Given the description of an element on the screen output the (x, y) to click on. 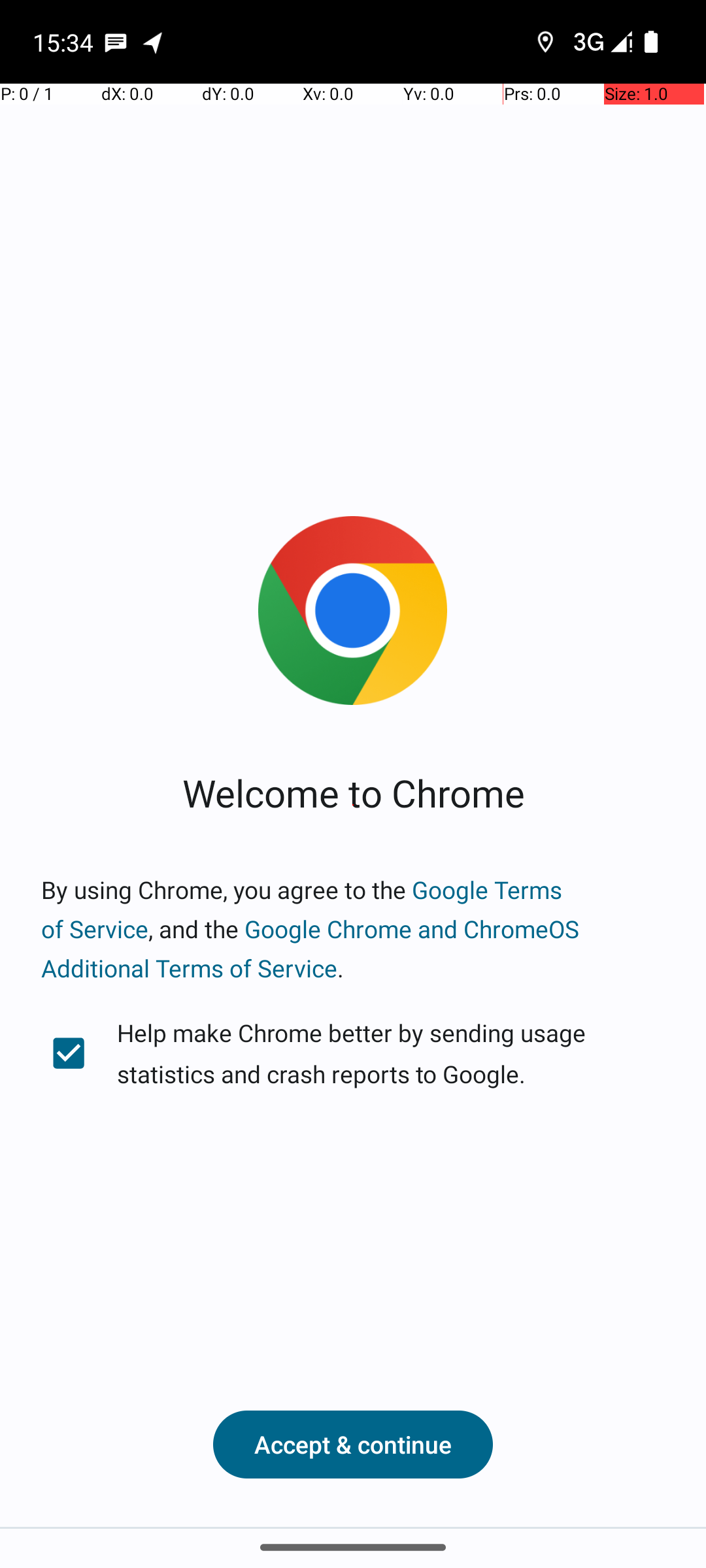
By using Chrome, you agree to the Google Terms of Service, and the Google Chrome and ChromeOS Additional Terms of Service. Element type: android.widget.TextView (352, 928)
Help make Chrome better by sending usage statistics and crash reports to Google. Element type: android.widget.CheckBox (352, 1053)
